Given the description of an element on the screen output the (x, y) to click on. 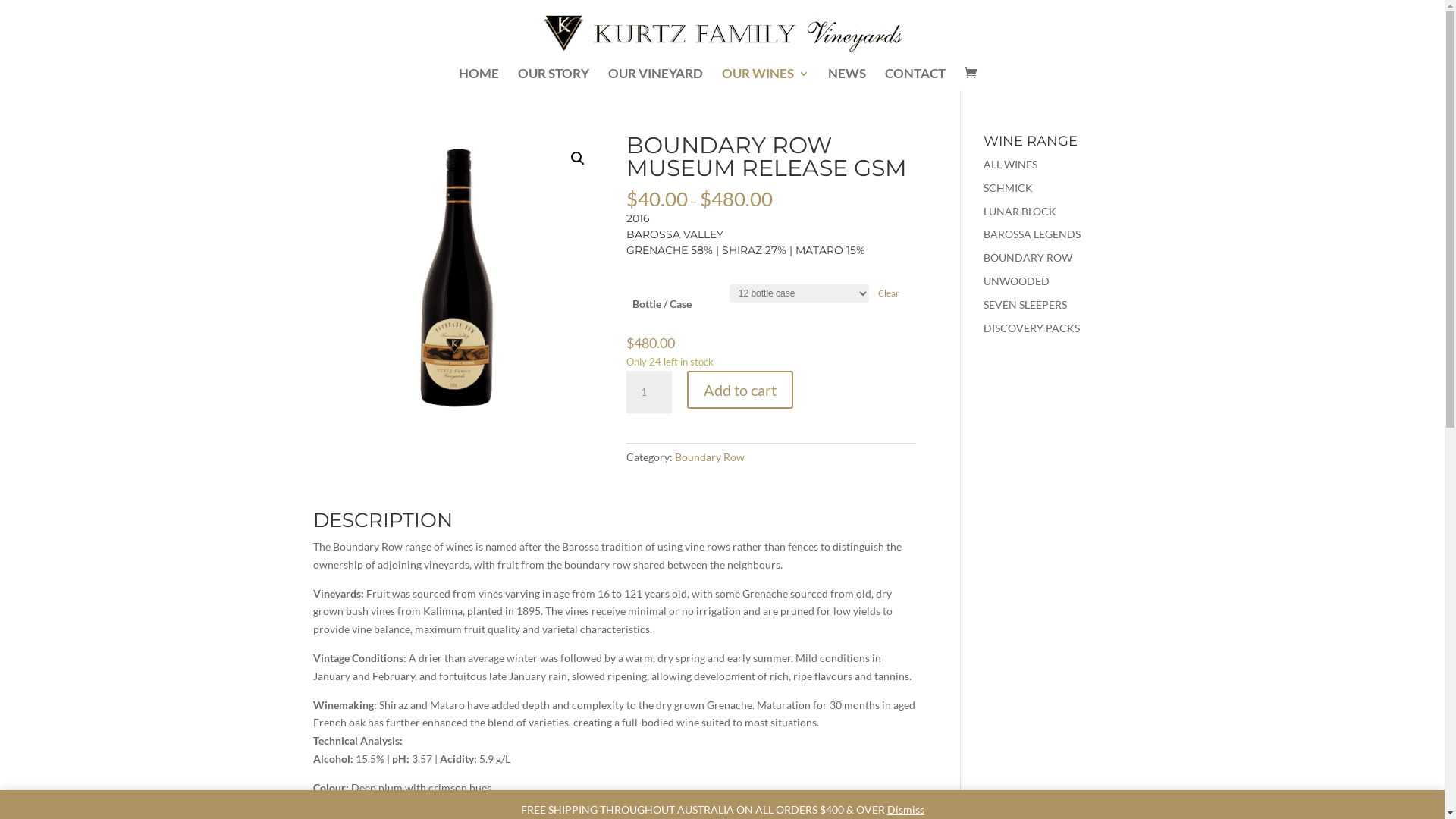
Dismiss Element type: text (905, 809)
OUR WINES Element type: text (765, 79)
NEWS Element type: text (847, 79)
CONTACT Element type: text (914, 79)
DISCOVERY PACKS Element type: text (1031, 327)
SEVEN SLEEPERS Element type: text (1024, 304)
OUR STORY Element type: text (553, 79)
BOUNDARY ROW Element type: text (1027, 257)
HOME Element type: text (478, 79)
ALL WINES Element type: text (1010, 163)
SCHMICK Element type: text (1007, 187)
Clear Element type: text (888, 293)
LUNAR BLOCK Element type: text (1019, 210)
BAROSSA LEGENDS Element type: text (1031, 233)
Add to cart Element type: text (740, 389)
OUR VINEYARD Element type: text (655, 79)
UNWOODED Element type: text (1016, 280)
Kurtz Family Vineyards Boundary Row Grenache Shiraz Mataro Element type: hover (457, 278)
Boundary Row Element type: text (709, 456)
